Given the description of an element on the screen output the (x, y) to click on. 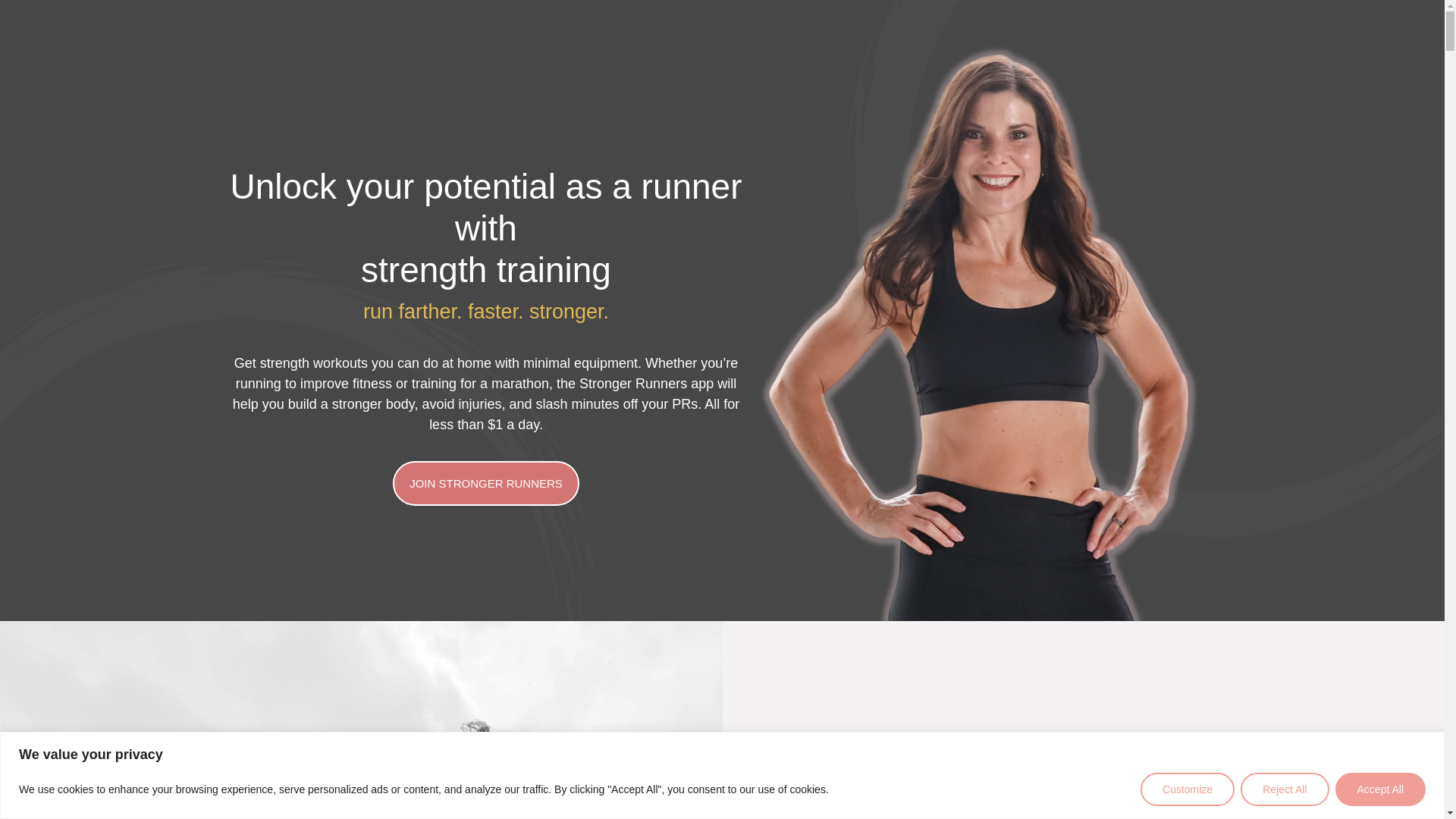
Reject All (1283, 788)
Accept All (1380, 788)
Customize (1187, 788)
JOIN STRONGER RUNNERS (486, 483)
